Given the description of an element on the screen output the (x, y) to click on. 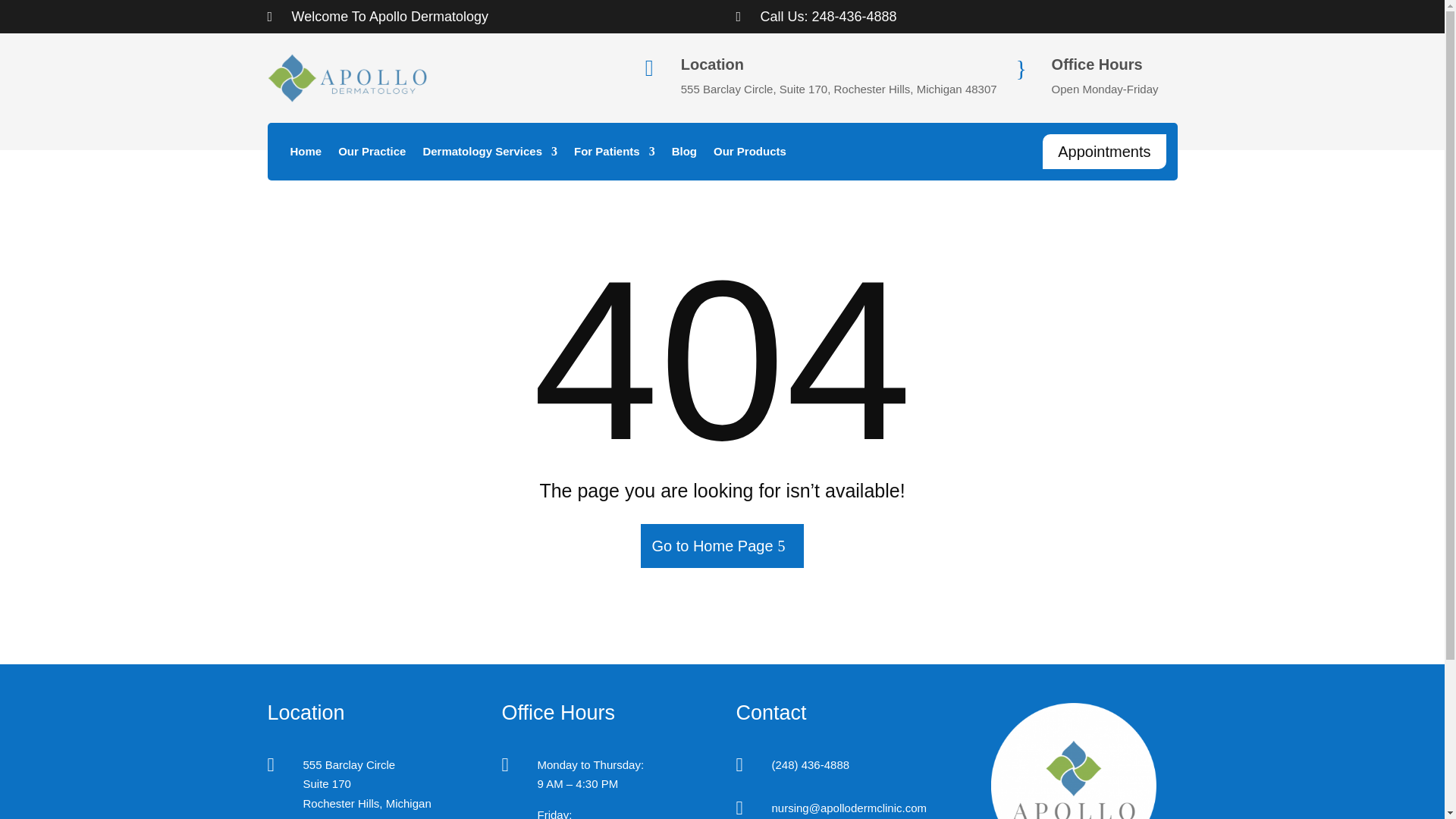
Our Products (749, 154)
APOLLO-logo-web-HOR (346, 78)
Blog (684, 154)
Home (305, 154)
Dermatology Services (489, 154)
Our Practice (371, 154)
For Patients (614, 154)
Appointments (1104, 151)
apollo-dermatology-circle-logo-300x300 (1073, 760)
